Given the description of an element on the screen output the (x, y) to click on. 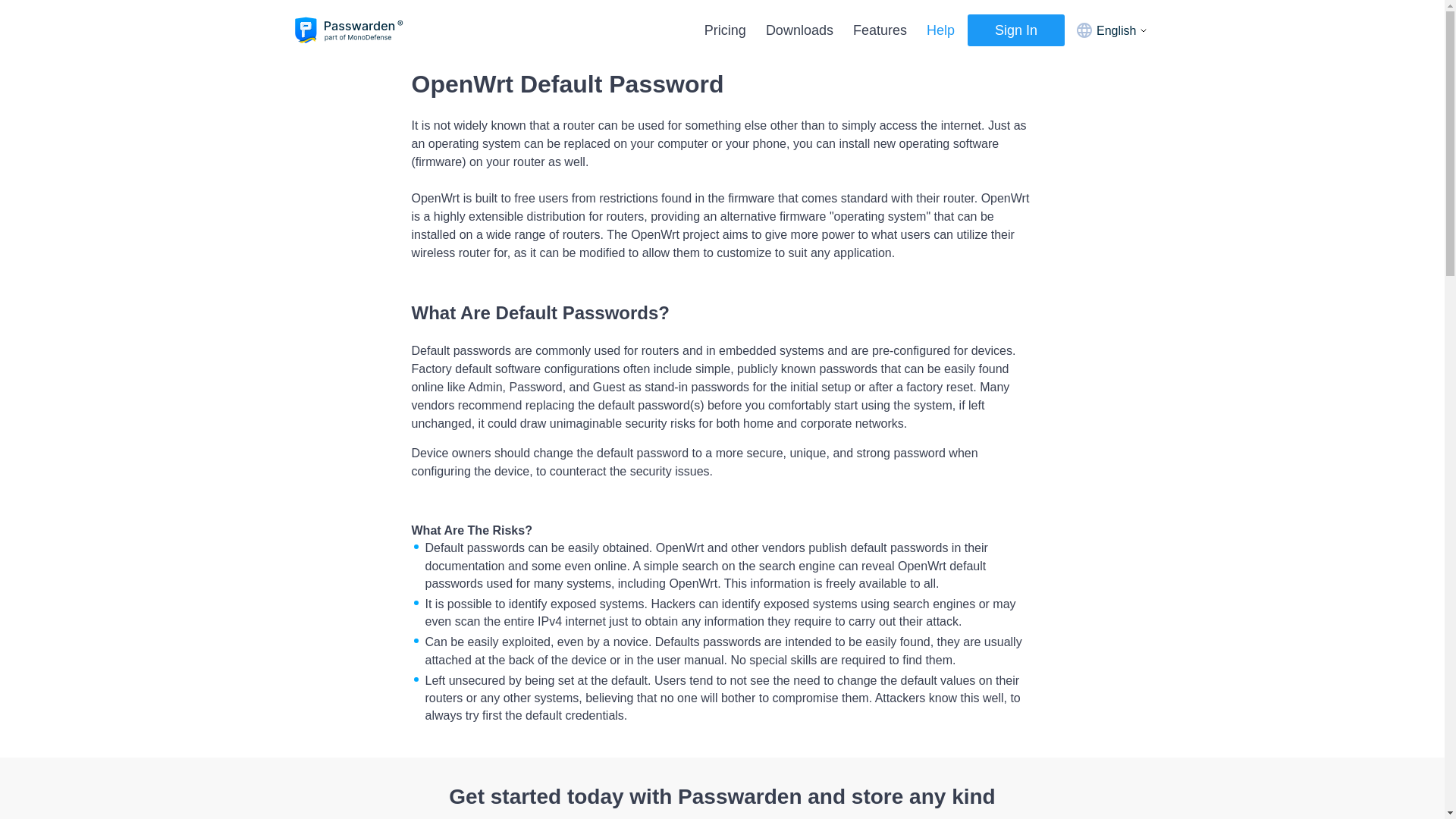
Sign In (1016, 29)
Features (880, 29)
Pricing (724, 29)
Downloads (799, 29)
